Given the description of an element on the screen output the (x, y) to click on. 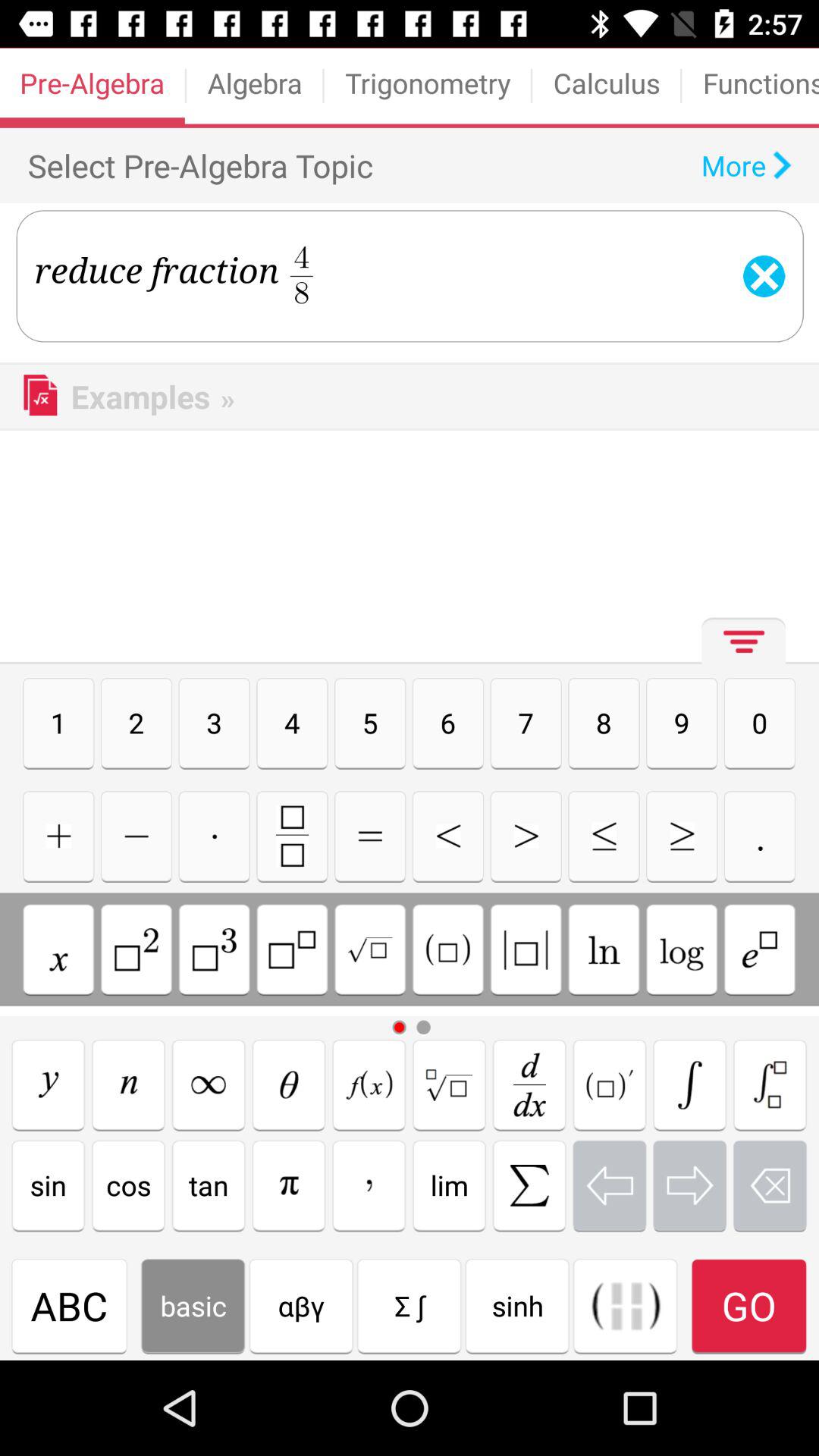
use the symbol (58, 835)
